Given the description of an element on the screen output the (x, y) to click on. 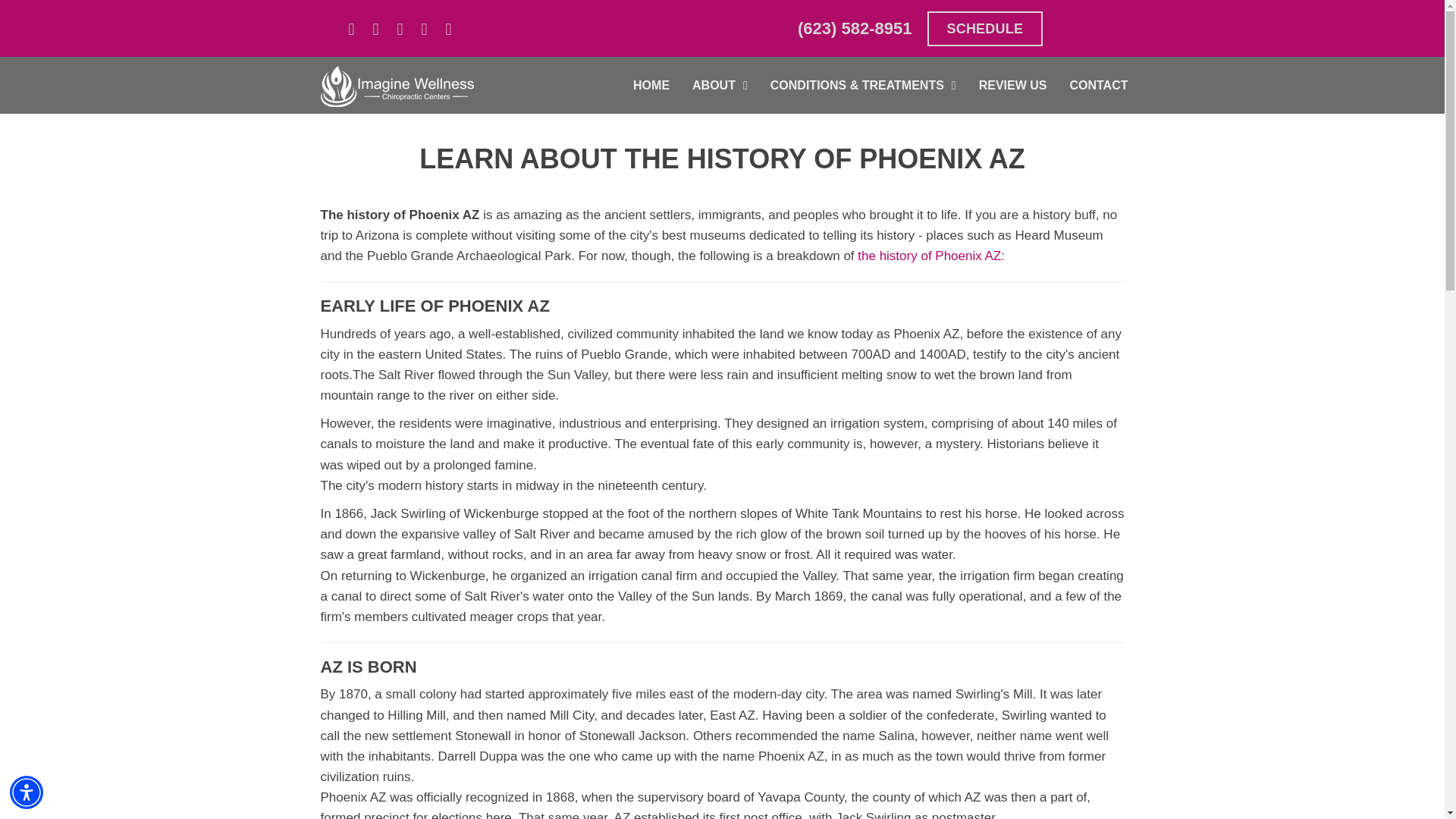
ABOUT (719, 85)
HOME (651, 85)
Accessibility Menu (26, 792)
Chiropractic Phoenix AZ Imagine Wellness Chiropractic Center (396, 84)
SCHEDULE (984, 28)
